Given the description of an element on the screen output the (x, y) to click on. 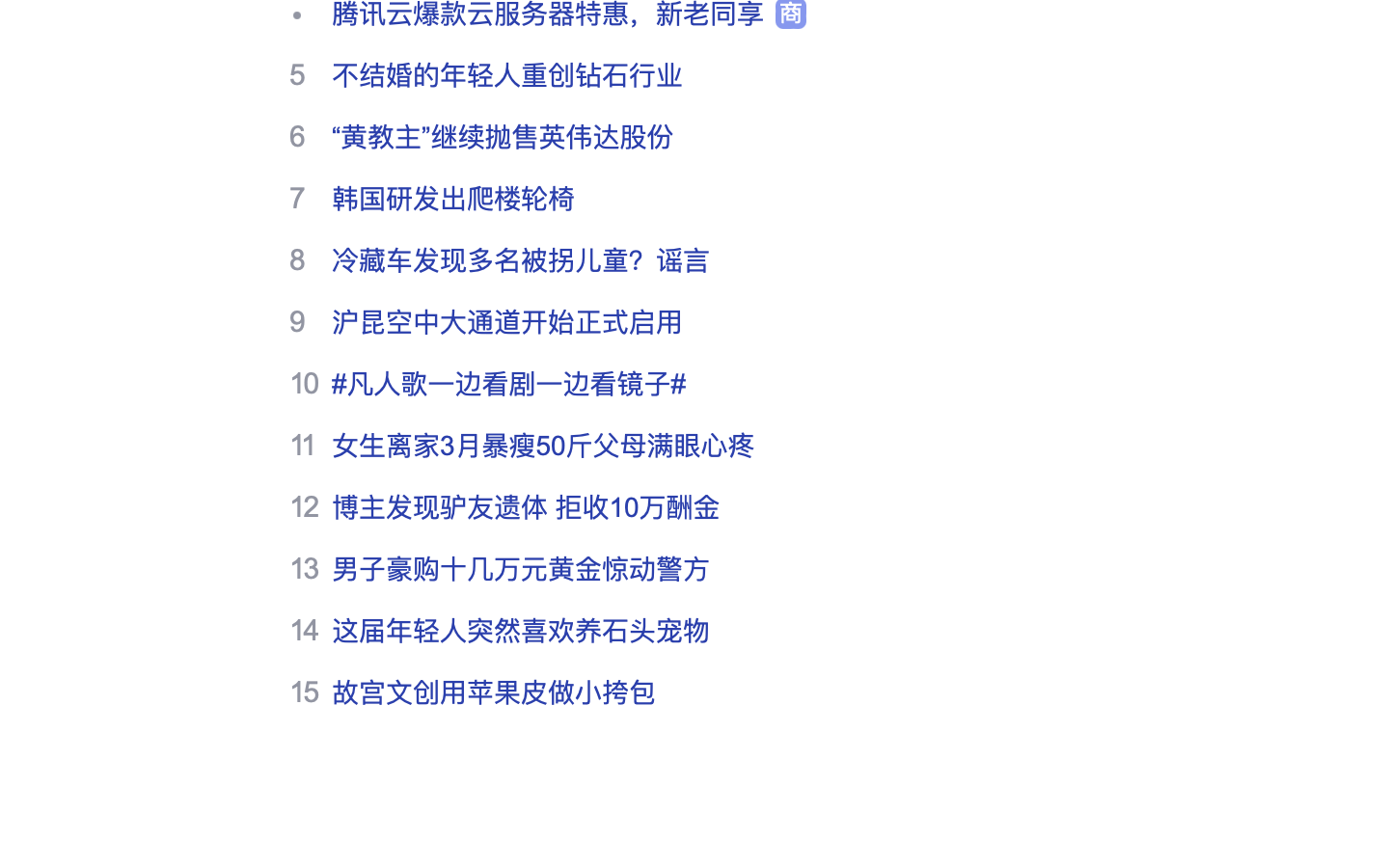
9 Element type: AXStaticText (296, 320)
14 Element type: AXStaticText (303, 629)
博主发现驴友遗体 拒收10万酬金 Element type: AXStaticText (526, 506)
这届年轻人突然喜欢养石头宠物 Element type: AXStaticText (520, 630)
8 Element type: AXStaticText (296, 259)
